Given the description of an element on the screen output the (x, y) to click on. 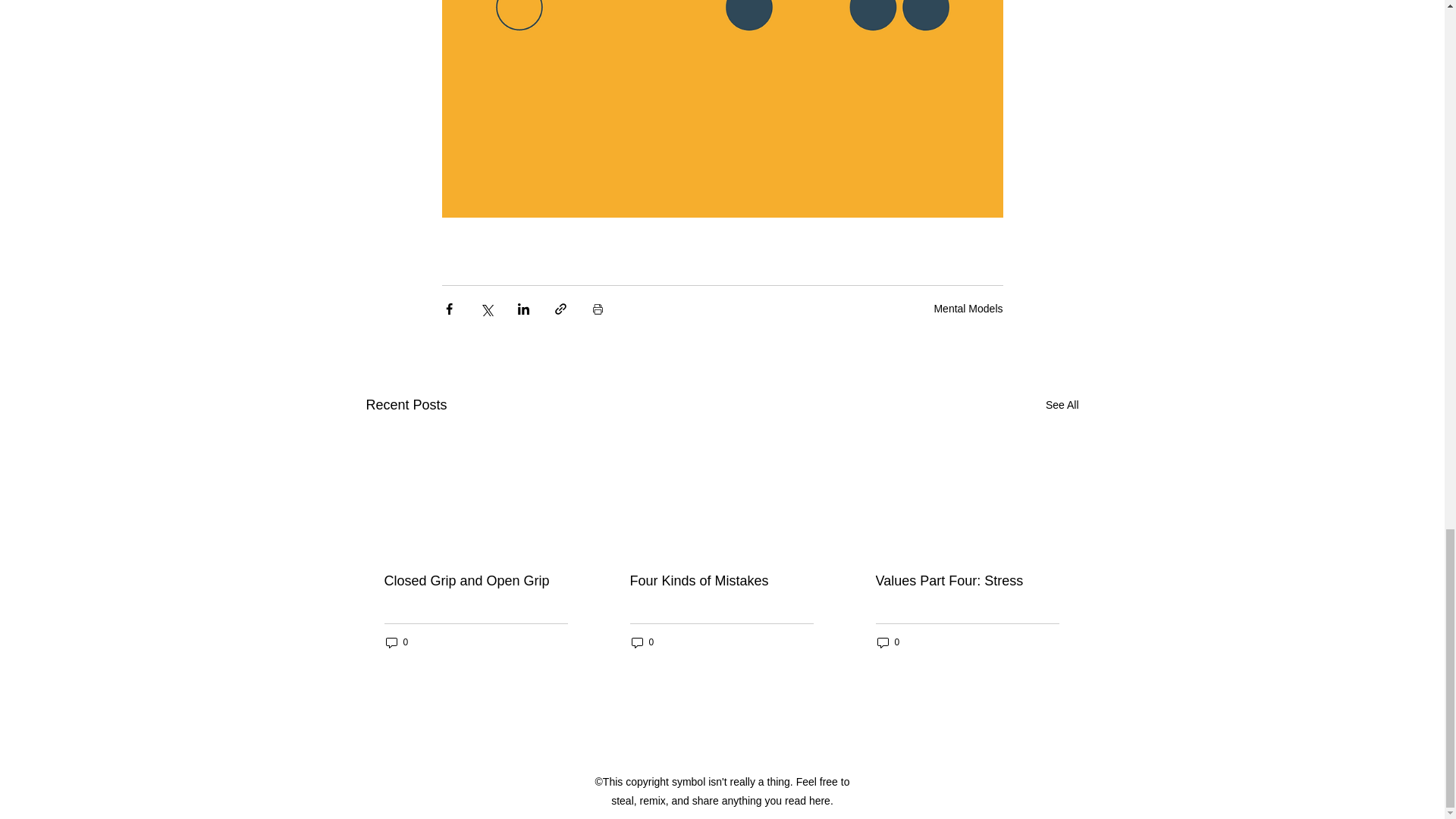
Mental Models (968, 308)
See All (1061, 404)
Closed Grip and Open Grip (475, 580)
0 (888, 642)
0 (396, 642)
Four Kinds of Mistakes (720, 580)
0 (641, 642)
Values Part Four: Stress (966, 580)
